Given the description of an element on the screen output the (x, y) to click on. 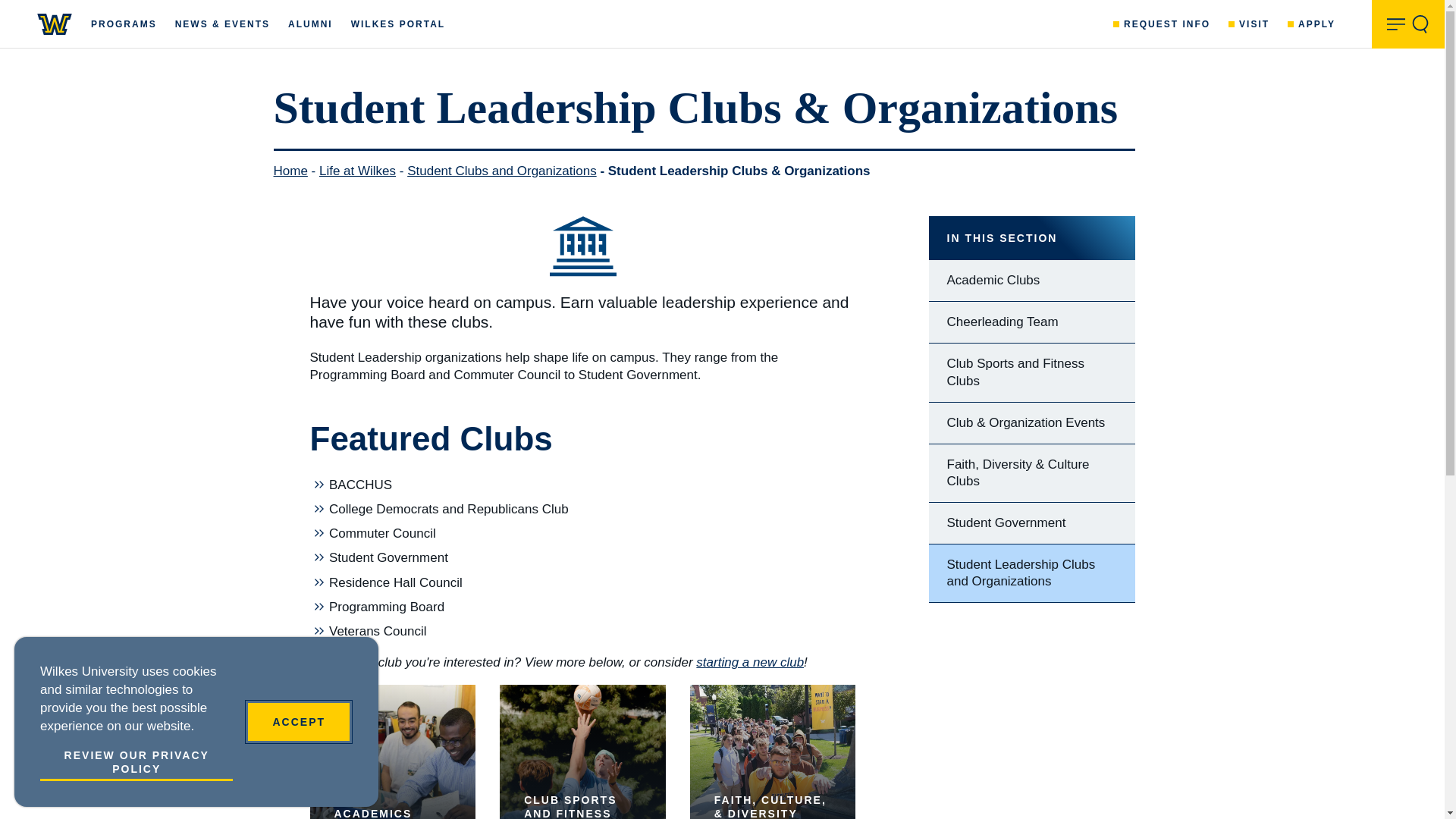
Wilkes University (54, 23)
APPLY (1311, 23)
ACCEPT (298, 721)
Life at Wilkes (357, 170)
REQUEST INFO (1161, 23)
ALUMNI (310, 23)
REVIEW OUR PRIVACY POLICY (136, 764)
VISIT (1248, 23)
Home (290, 170)
WILKES PORTAL (397, 23)
PROGRAMS (123, 23)
